Given the description of an element on the screen output the (x, y) to click on. 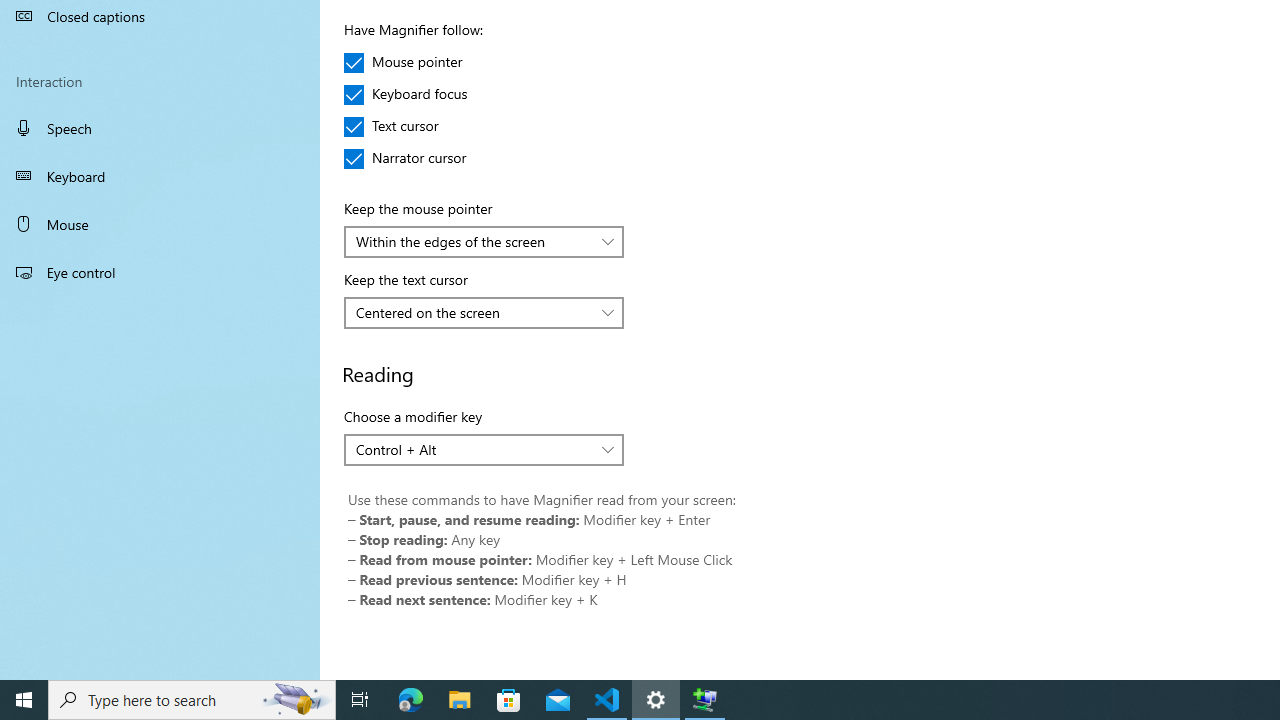
Choose a modifier key (484, 449)
Narrator cursor (405, 158)
Extensible Wizards Host Process - 1 running window (704, 699)
Speech (160, 127)
Mouse pointer (403, 62)
Keyboard (160, 175)
Eye control (160, 271)
